Given the description of an element on the screen output the (x, y) to click on. 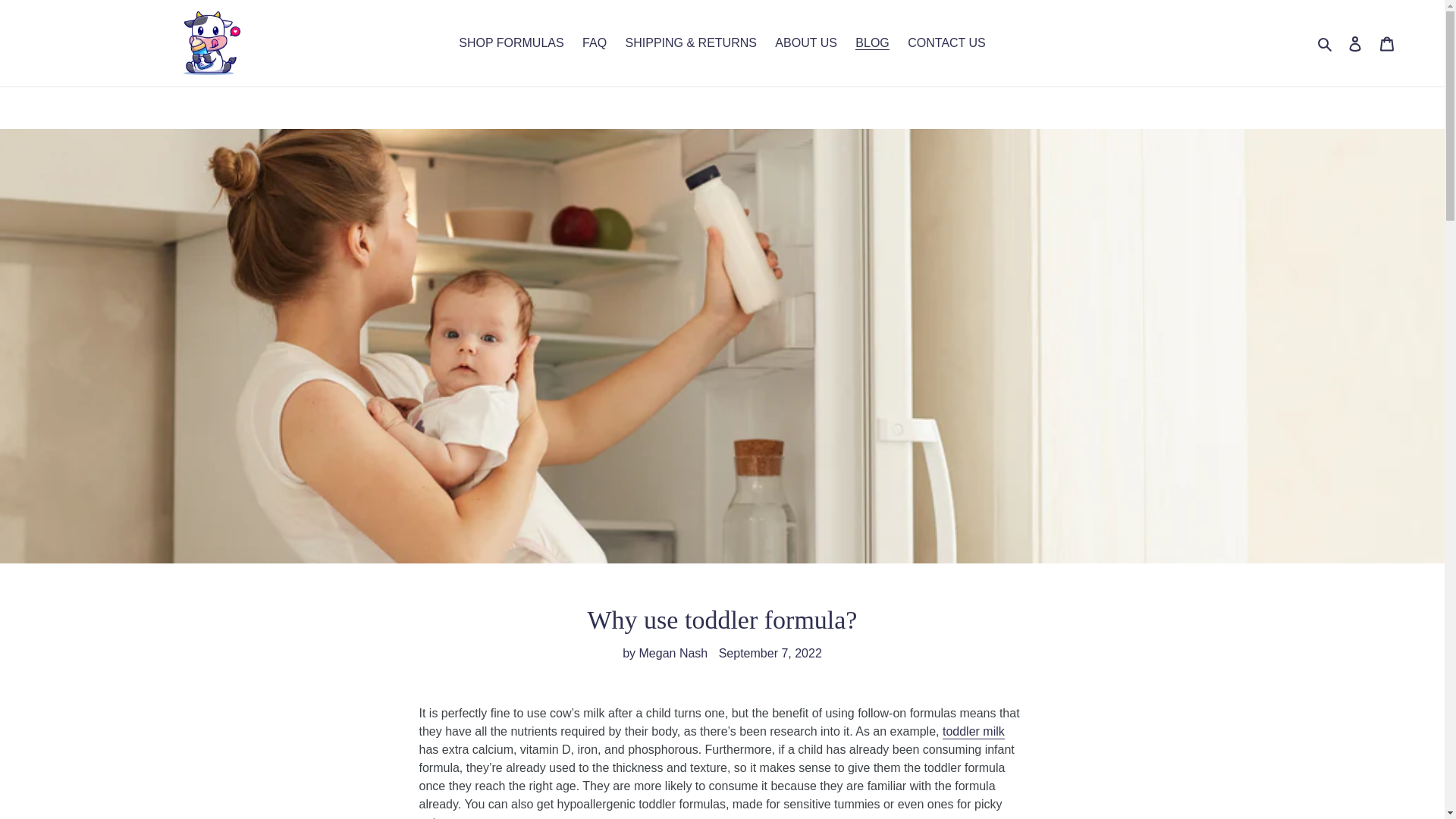
Search (1326, 43)
BLOG (871, 42)
CONTACT US (945, 42)
Cart (1387, 42)
toddler milk (973, 731)
SHOP FORMULAS (510, 42)
Log in (1355, 42)
FAQ (594, 42)
ABOUT US (805, 42)
